Given the description of an element on the screen output the (x, y) to click on. 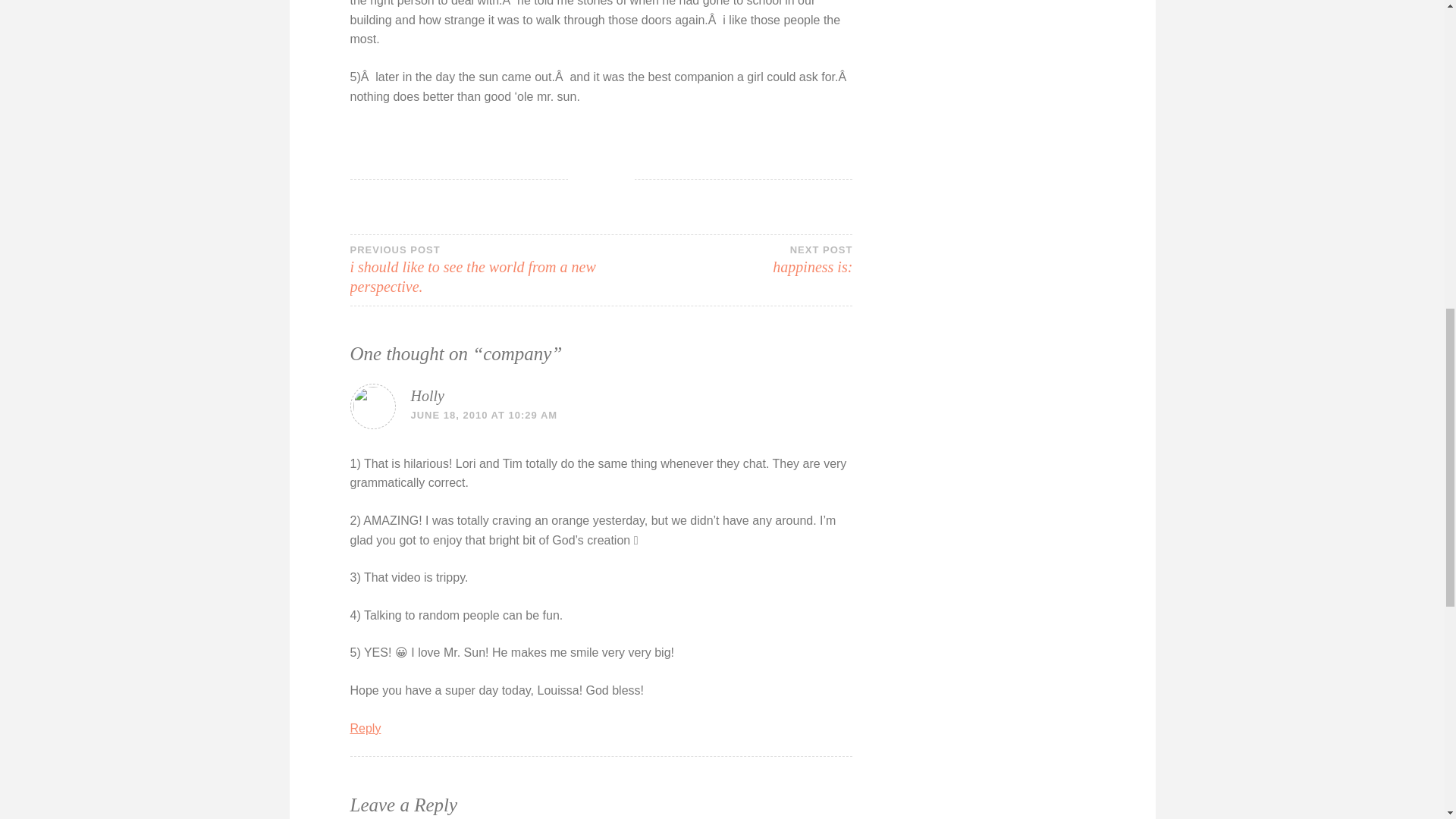
Reply (365, 727)
Holly (427, 395)
JUNE 18, 2010 AT 10:29 AM (726, 259)
